Given the description of an element on the screen output the (x, y) to click on. 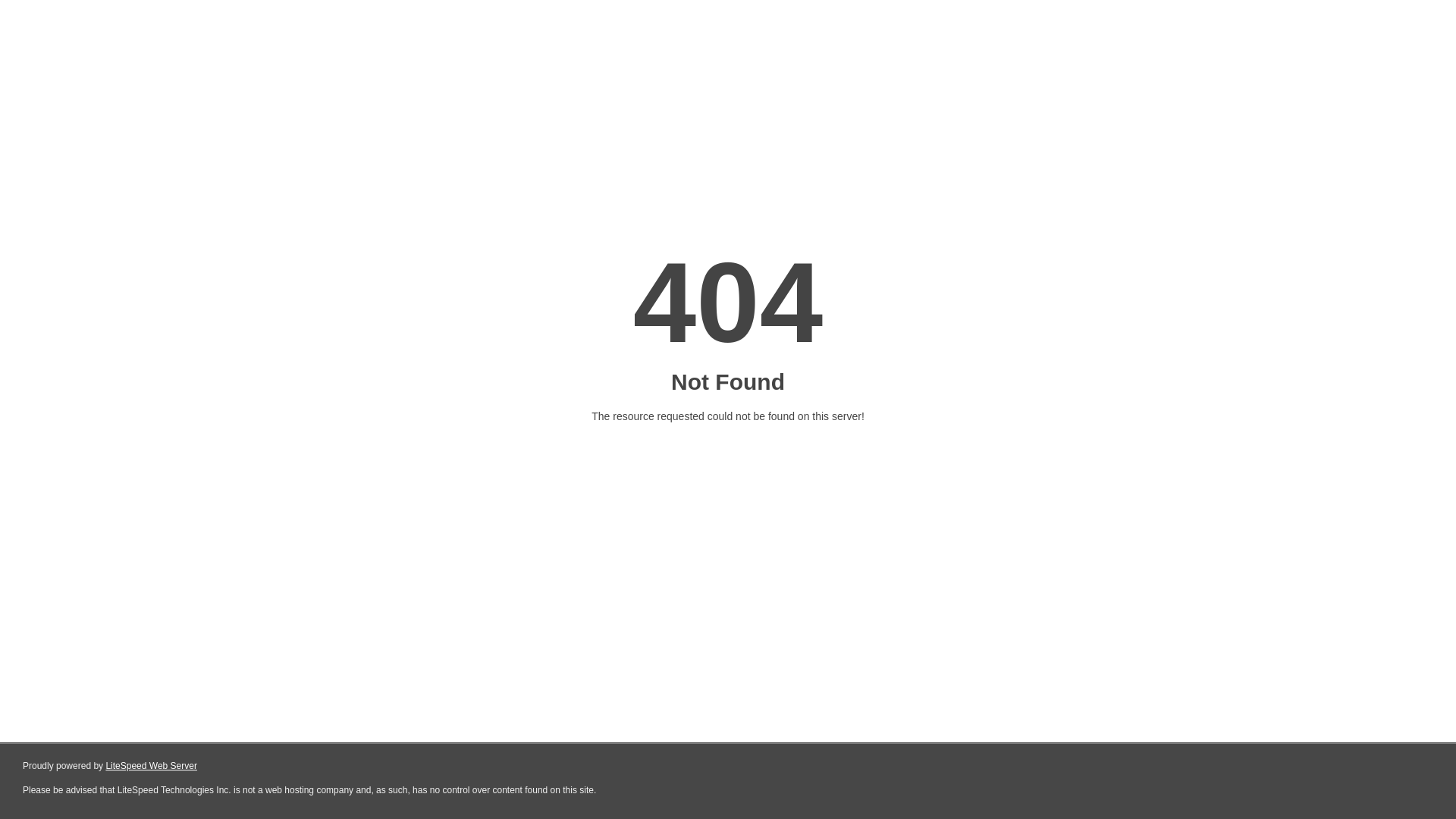
LiteSpeed Web Server Element type: text (151, 765)
